Given the description of an element on the screen output the (x, y) to click on. 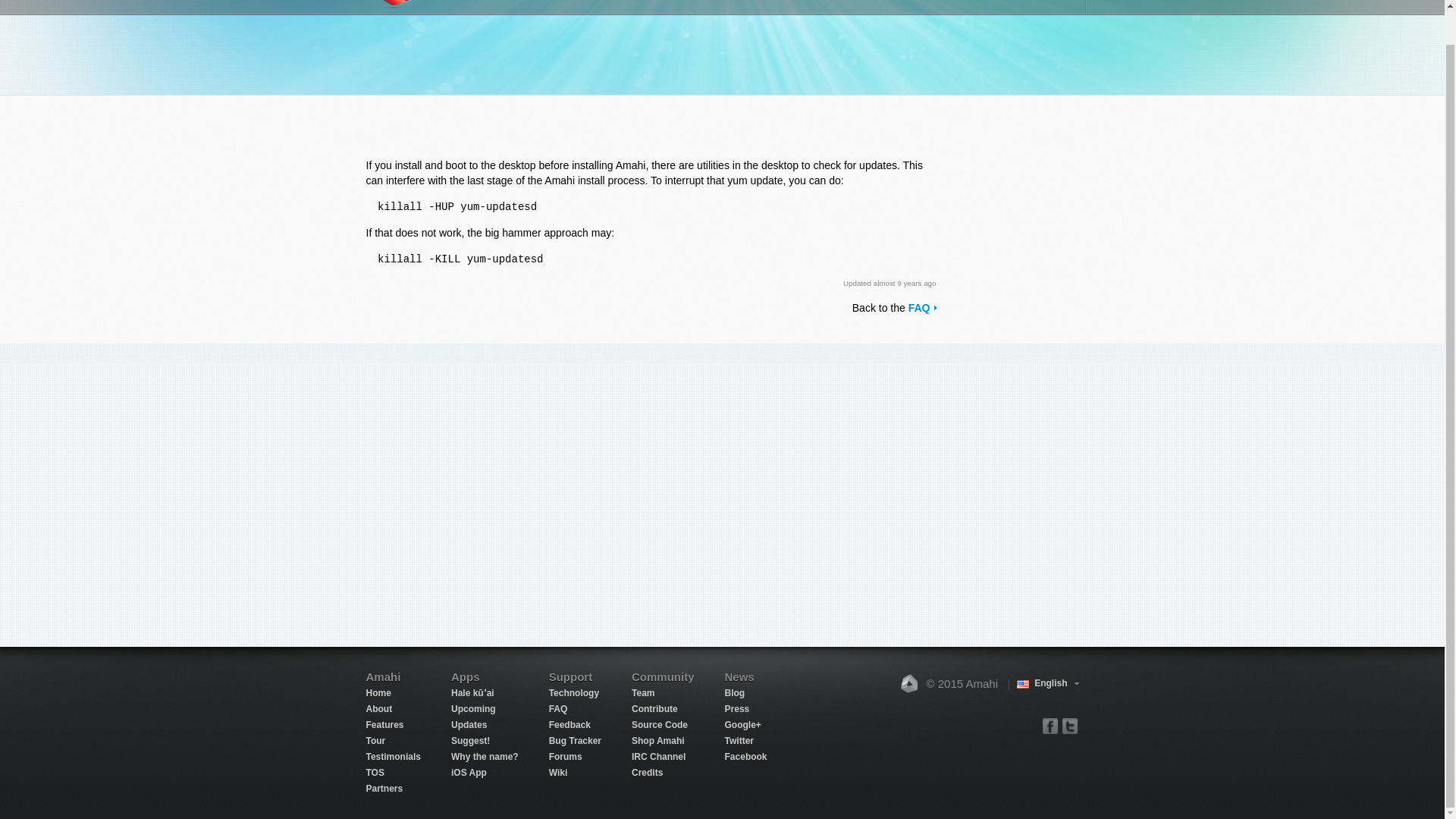
Support (761, 7)
Suggest! (470, 740)
About (378, 708)
Updates (468, 724)
Features (617, 7)
Community (834, 7)
Features (384, 724)
TOS (374, 772)
Sign in (906, 7)
FAQ (922, 307)
